Given the description of an element on the screen output the (x, y) to click on. 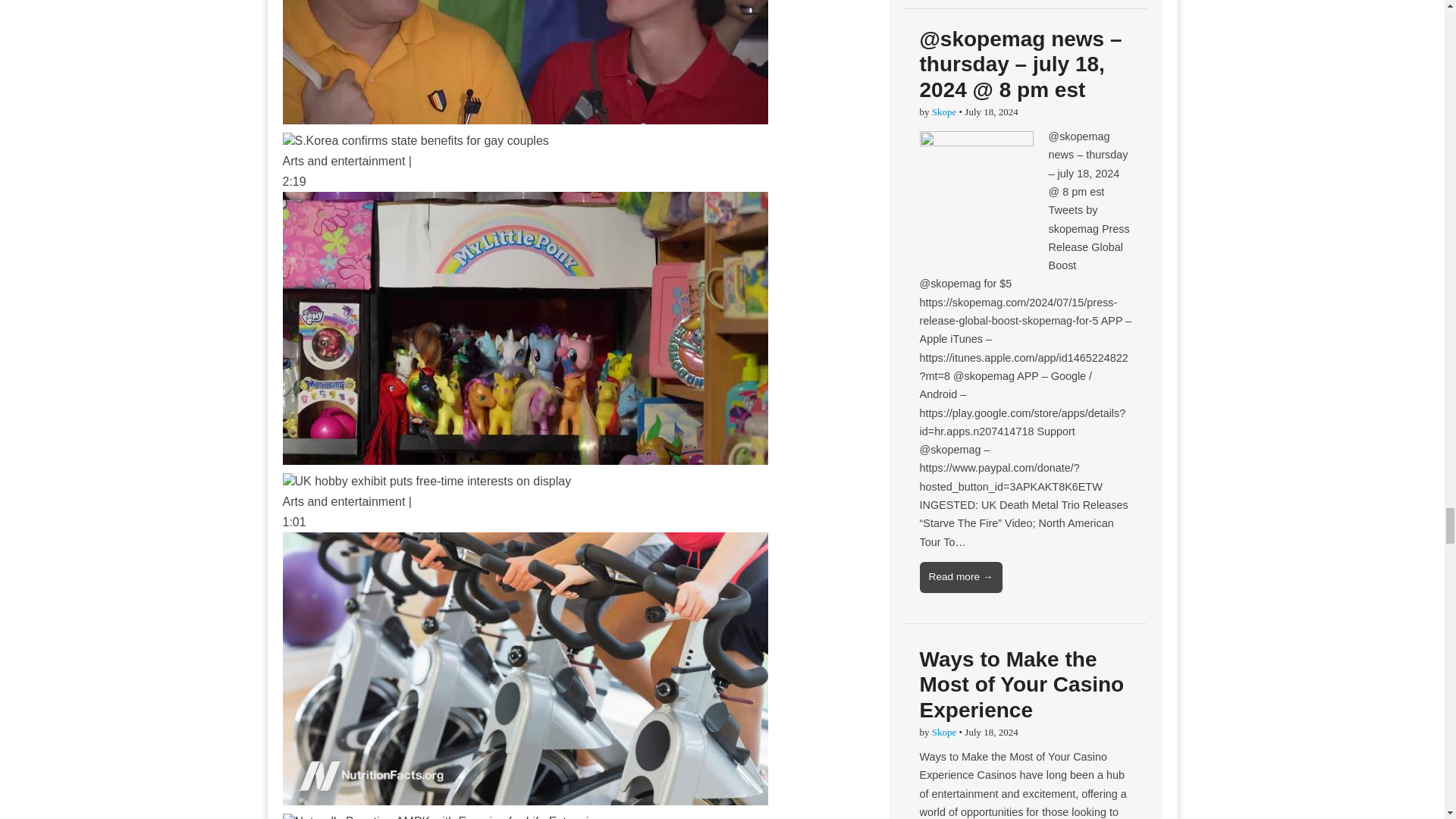
Posts by Skope (943, 111)
Posts by Skope (943, 731)
